Given the description of an element on the screen output the (x, y) to click on. 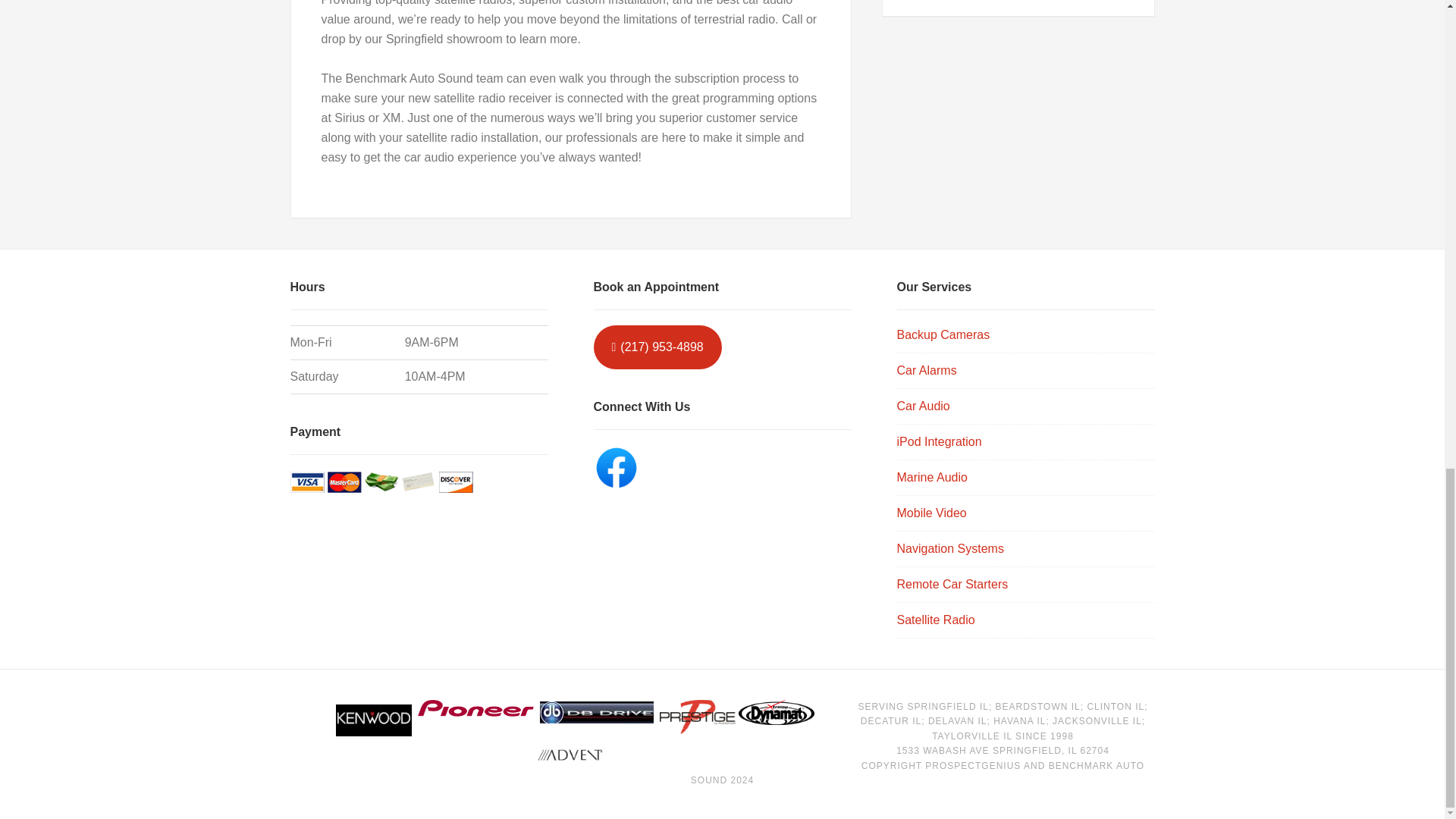
Backup Cameras (943, 334)
Car Alarms (926, 369)
Mobile Video (931, 512)
Navigation Systems (949, 548)
Backup Cameras (943, 334)
Marine Audio (931, 477)
Satellite Radio (935, 619)
Car Audio (922, 405)
Remote Car Starters (951, 584)
PROSPECTGENIUS (972, 765)
iPod Integration (938, 440)
